Given the description of an element on the screen output the (x, y) to click on. 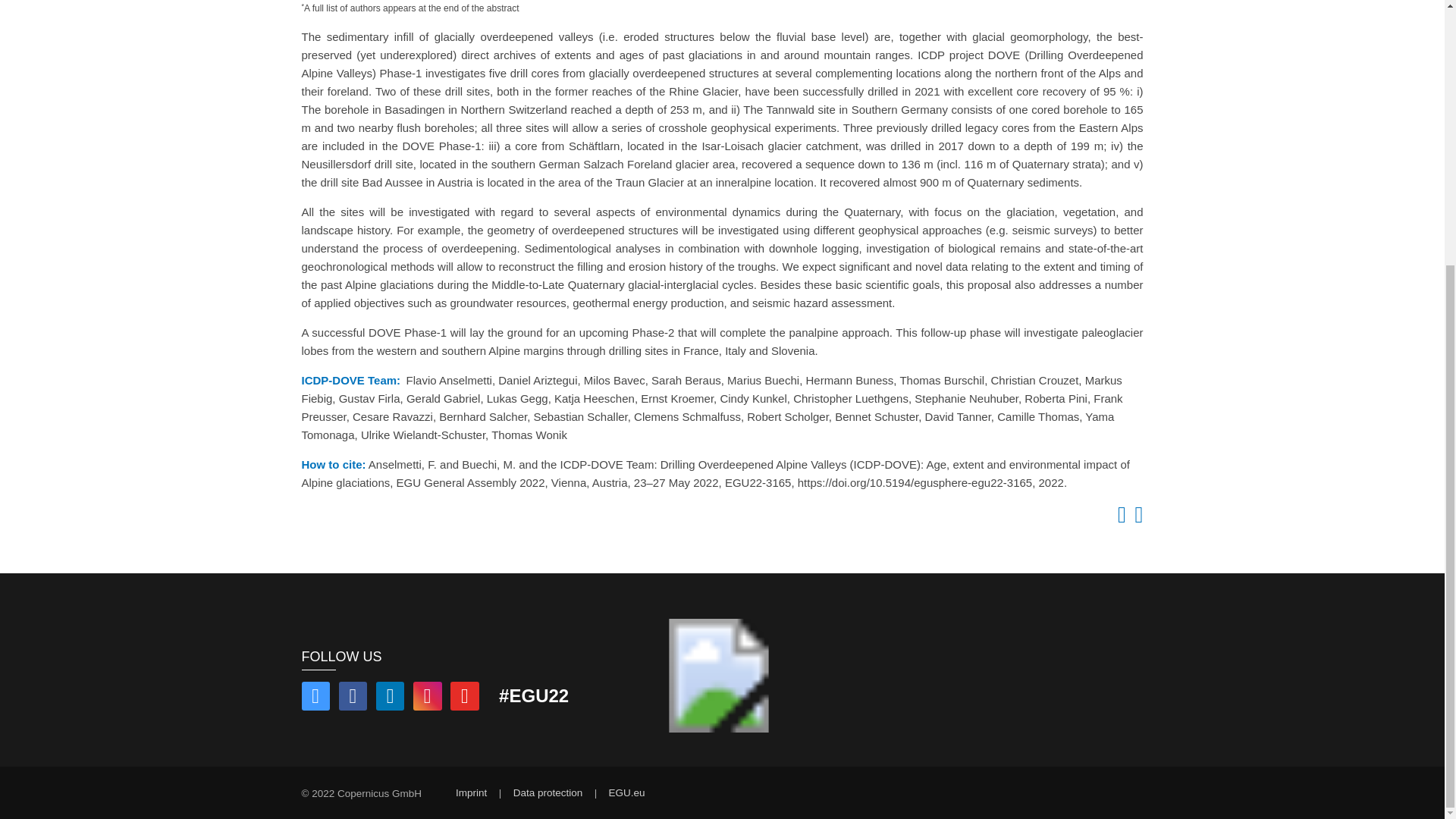
Find us on LinkedIn (389, 698)
Follow us on Facebook (353, 698)
Find us on Instagram (427, 698)
Open QR code linking to abstract URL (1135, 517)
Follow us on Twitter (315, 698)
Copy to clipboard (1118, 517)
Find us on YouTube (464, 698)
